Given the description of an element on the screen output the (x, y) to click on. 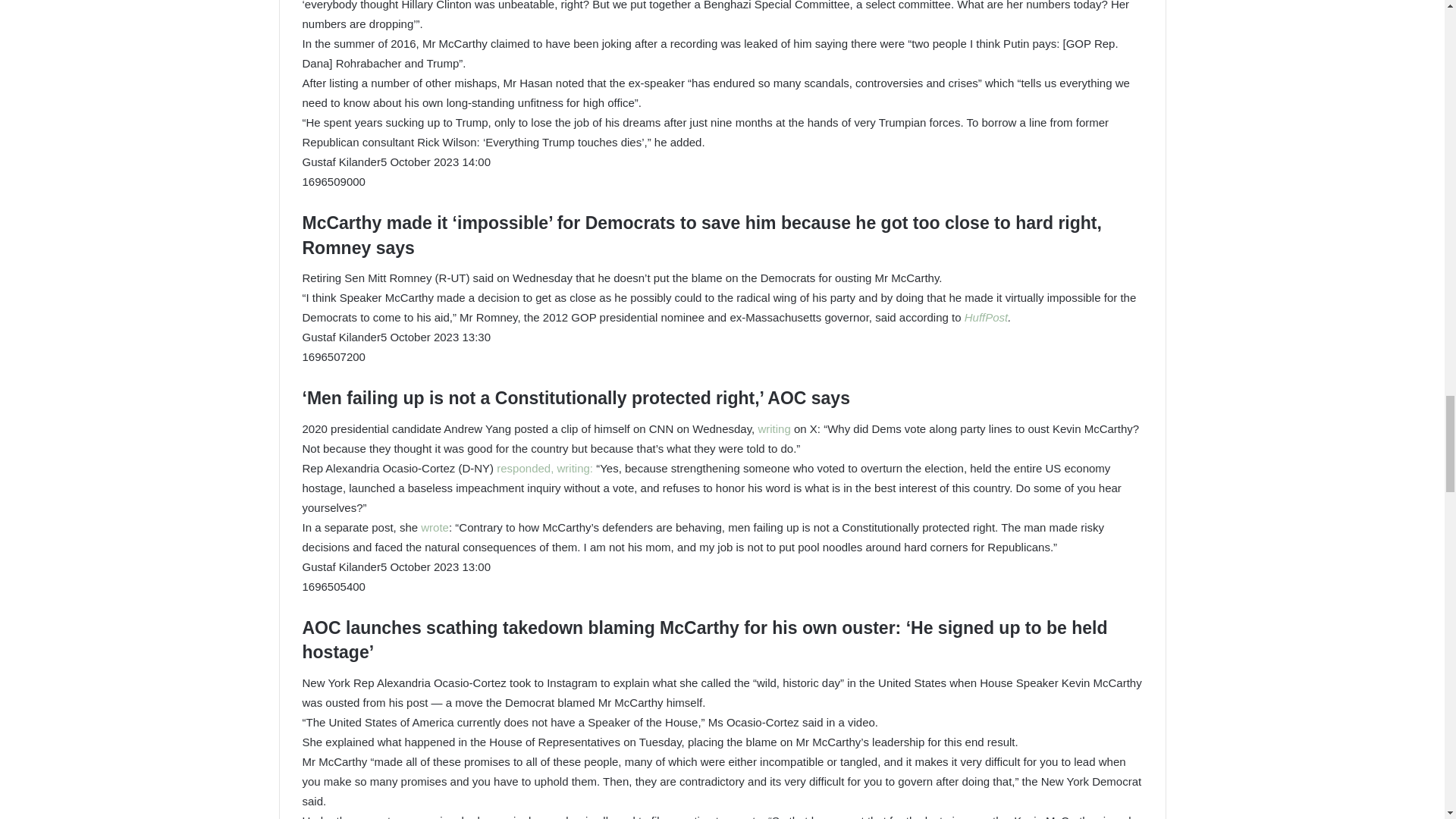
writing (773, 428)
HuffPost (986, 317)
responded, writing: (542, 468)
wrote (434, 526)
